Given the description of an element on the screen output the (x, y) to click on. 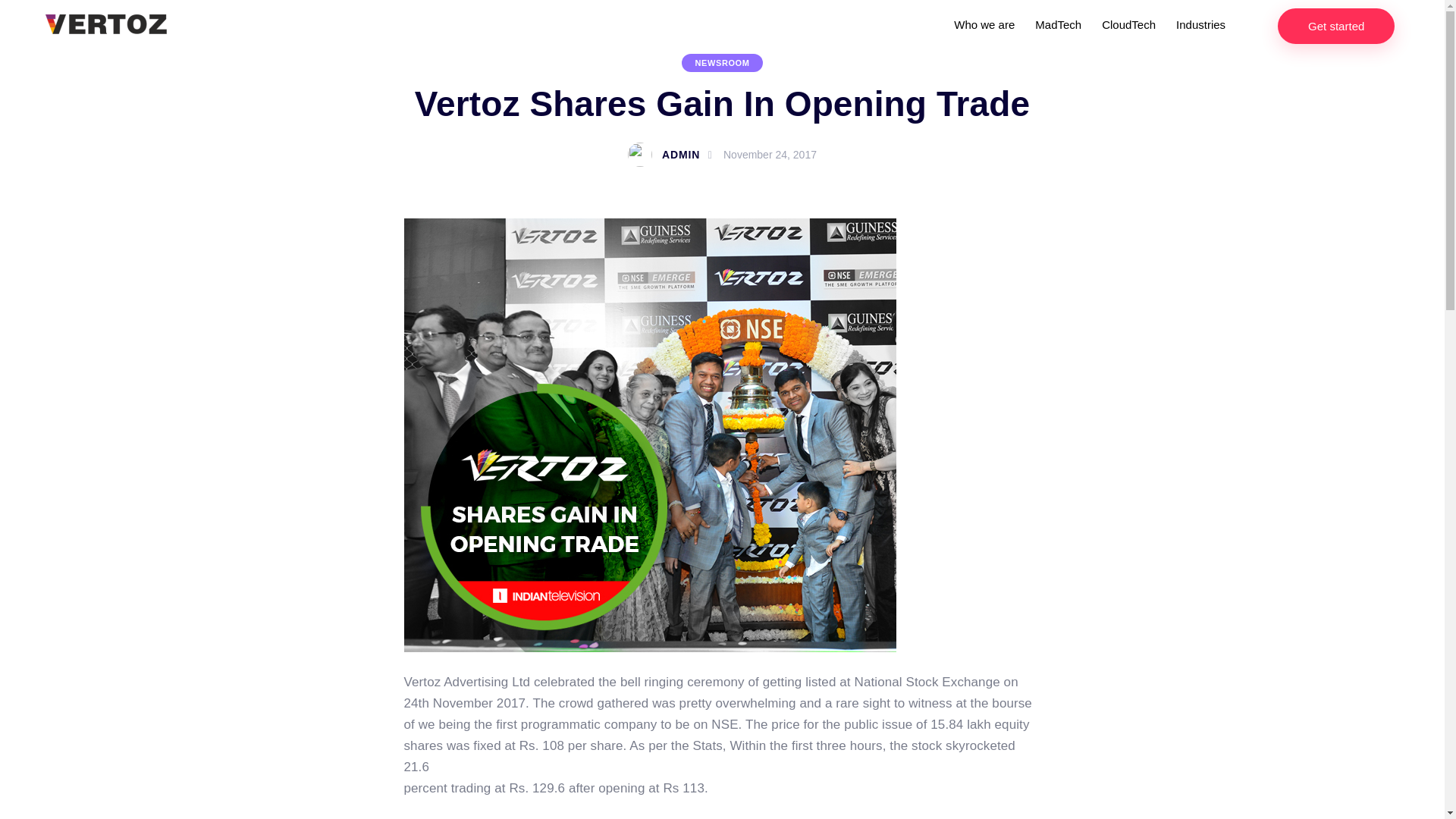
Who we are (984, 25)
MadTech (1058, 25)
Get started (1336, 26)
Industries (1201, 25)
CloudTech (1129, 25)
